Given the description of an element on the screen output the (x, y) to click on. 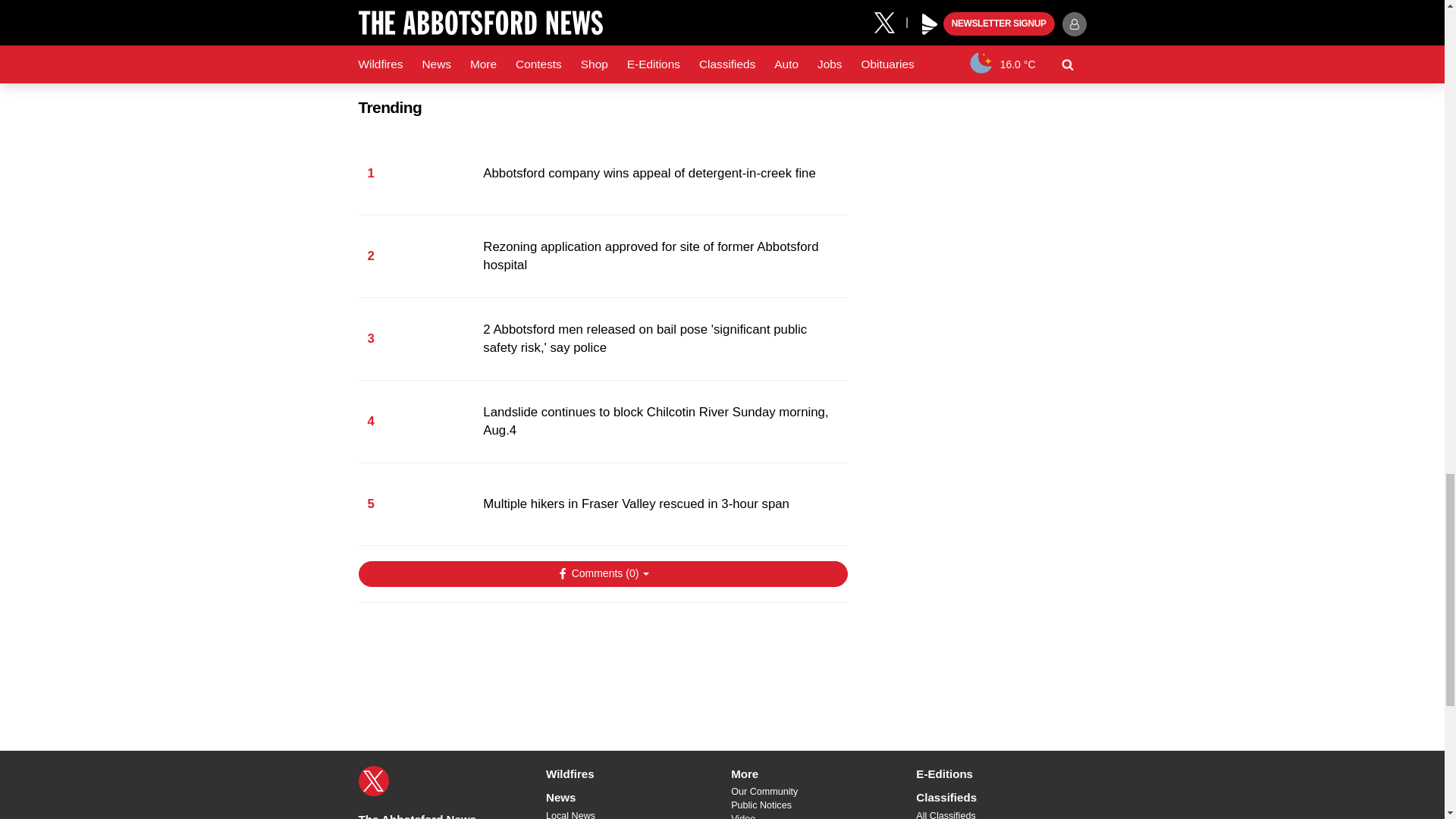
X (373, 780)
Show Comments (602, 574)
